Given the description of an element on the screen output the (x, y) to click on. 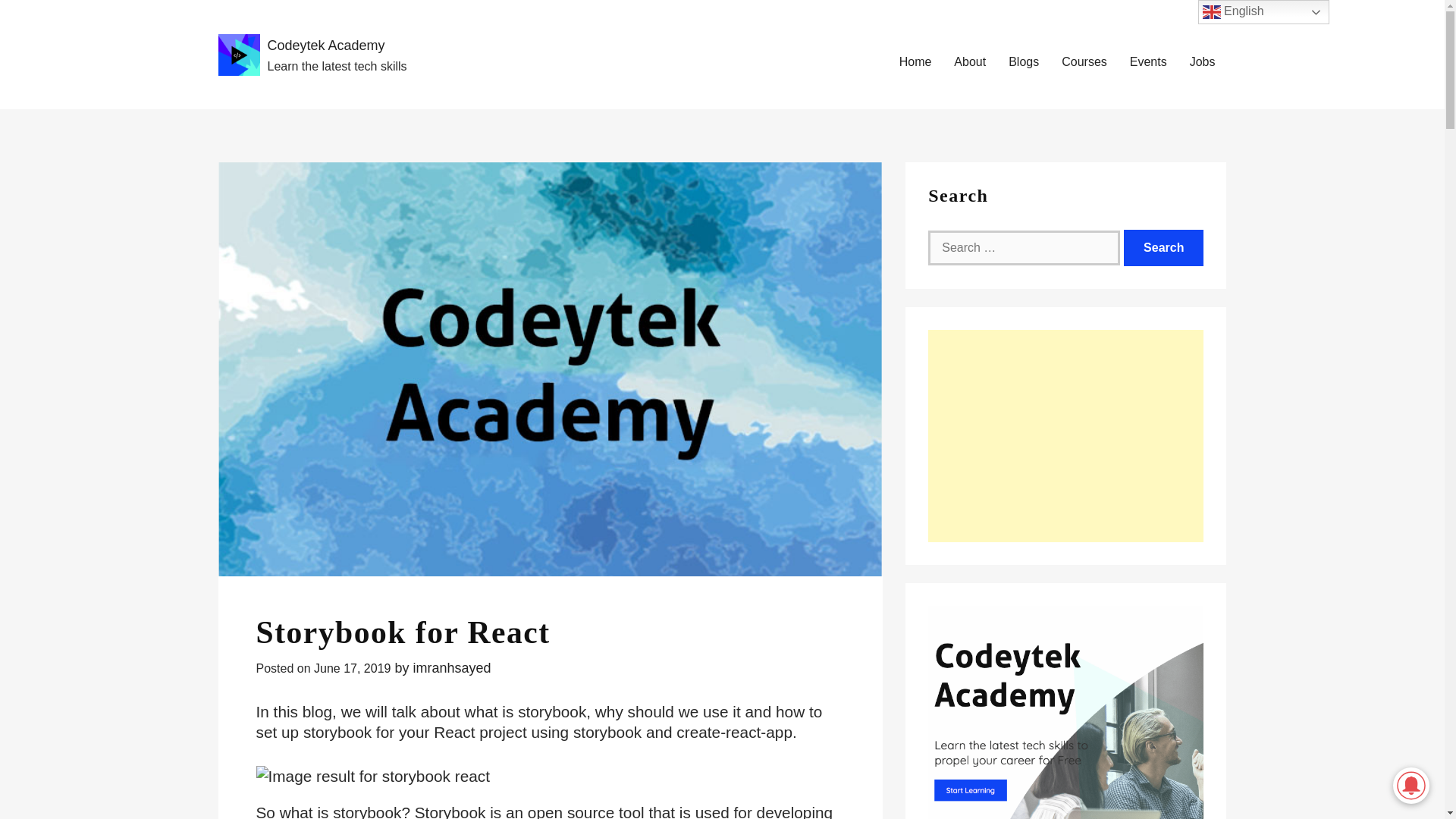
Home (915, 62)
Events (1148, 62)
Jobs (1202, 62)
About (969, 62)
Search (1164, 248)
Blogs (1024, 62)
imranhsayed (451, 667)
Search (1164, 248)
Codeytek Academy (325, 45)
Courses (1083, 62)
Advertisement (1066, 436)
June 17, 2019 (352, 667)
Search (1164, 248)
